Given the description of an element on the screen output the (x, y) to click on. 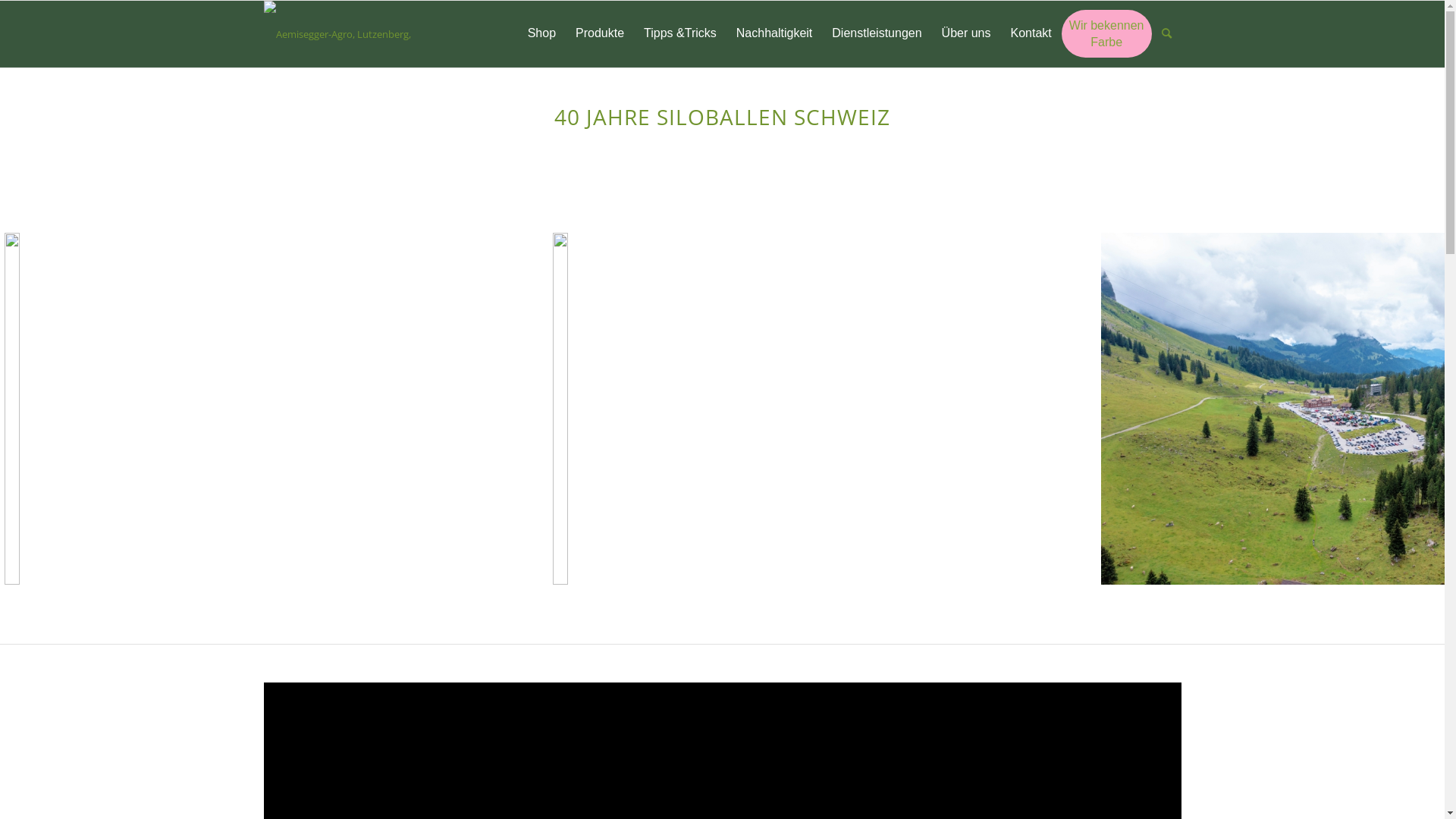
Wir bekennen
Farbe Element type: text (1106, 33)
Nachhaltigkeit Element type: text (774, 33)
456 Element type: hover (363, 33)
Produkte Element type: text (599, 33)
Tipps &Tricks Element type: text (679, 33)
A1_07872gehrig Element type: hover (268, 408)
Dienstleistungen Element type: text (876, 33)
A1_07745gehrig Element type: hover (816, 408)
Shop Element type: text (541, 33)
Kontakt Element type: text (1031, 33)
